Given the description of an element on the screen output the (x, y) to click on. 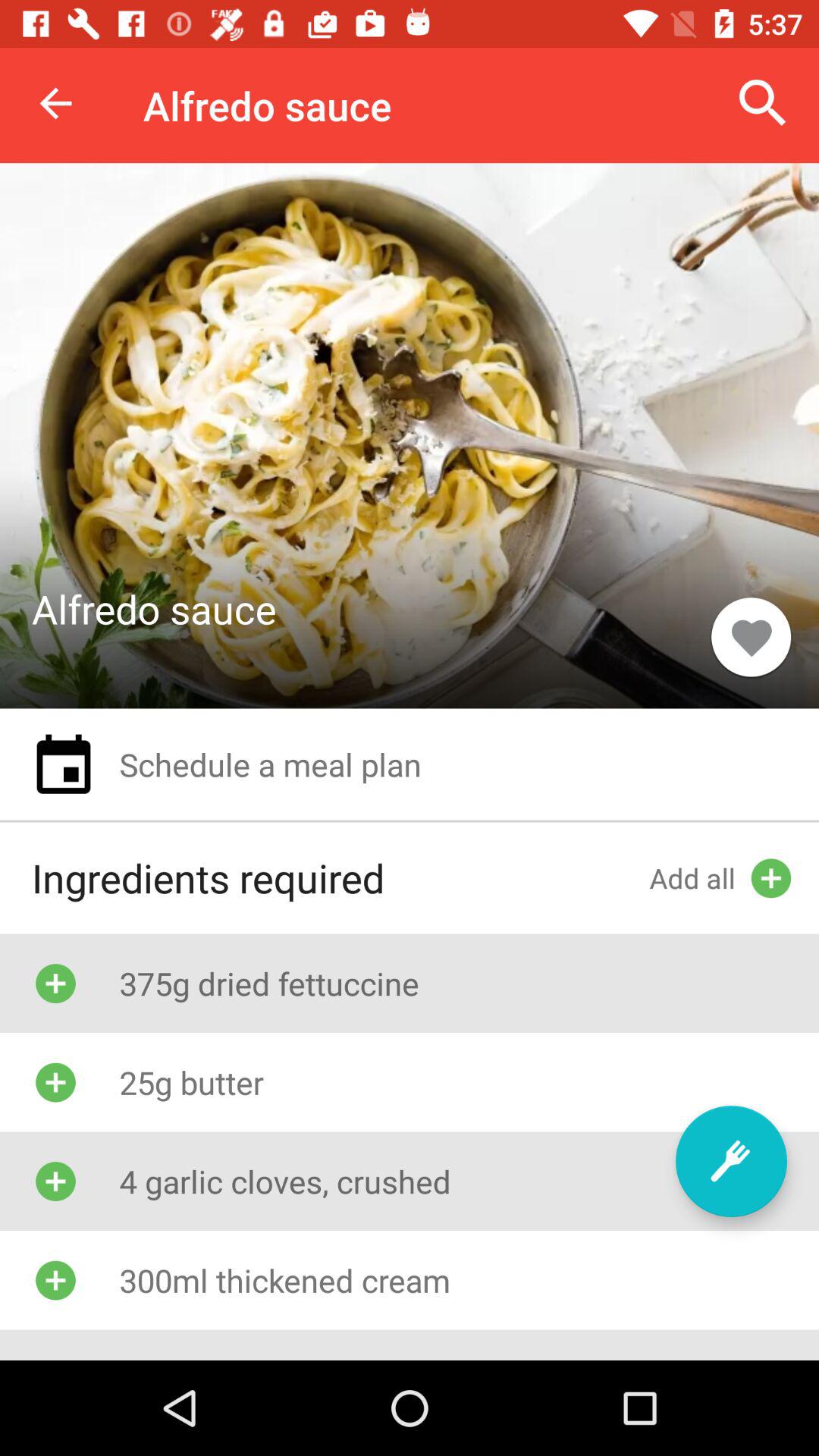
select add icon on the right side of the screen (770, 878)
click on icon which is left to 4garlic covescrushed (55, 1181)
click on the icon which is beside the text 25g butter (55, 1082)
go to symbol which is left to the text 300ml thickened cream (55, 1280)
